Given the description of an element on the screen output the (x, y) to click on. 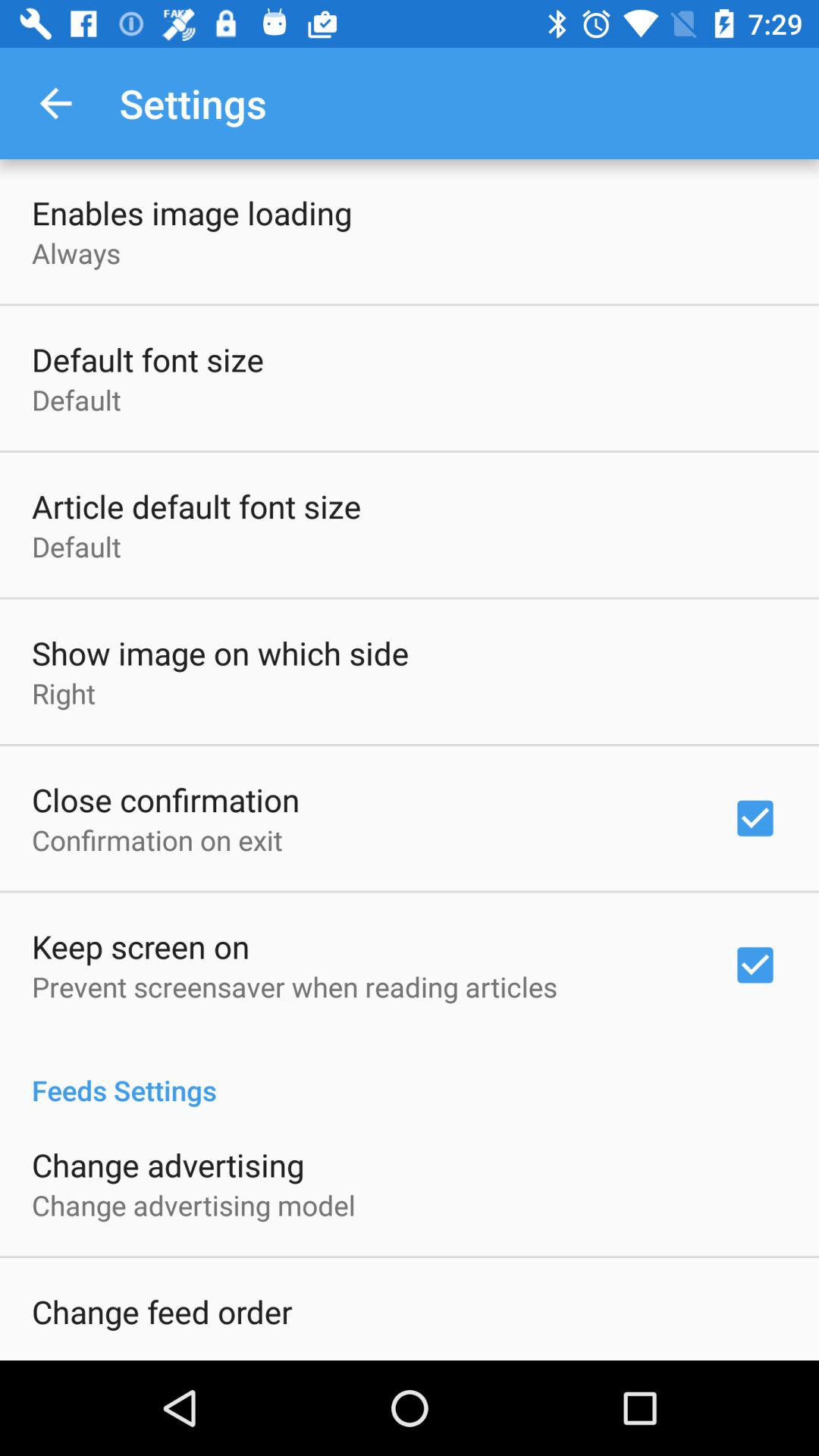
turn off the always icon (75, 252)
